Given the description of an element on the screen output the (x, y) to click on. 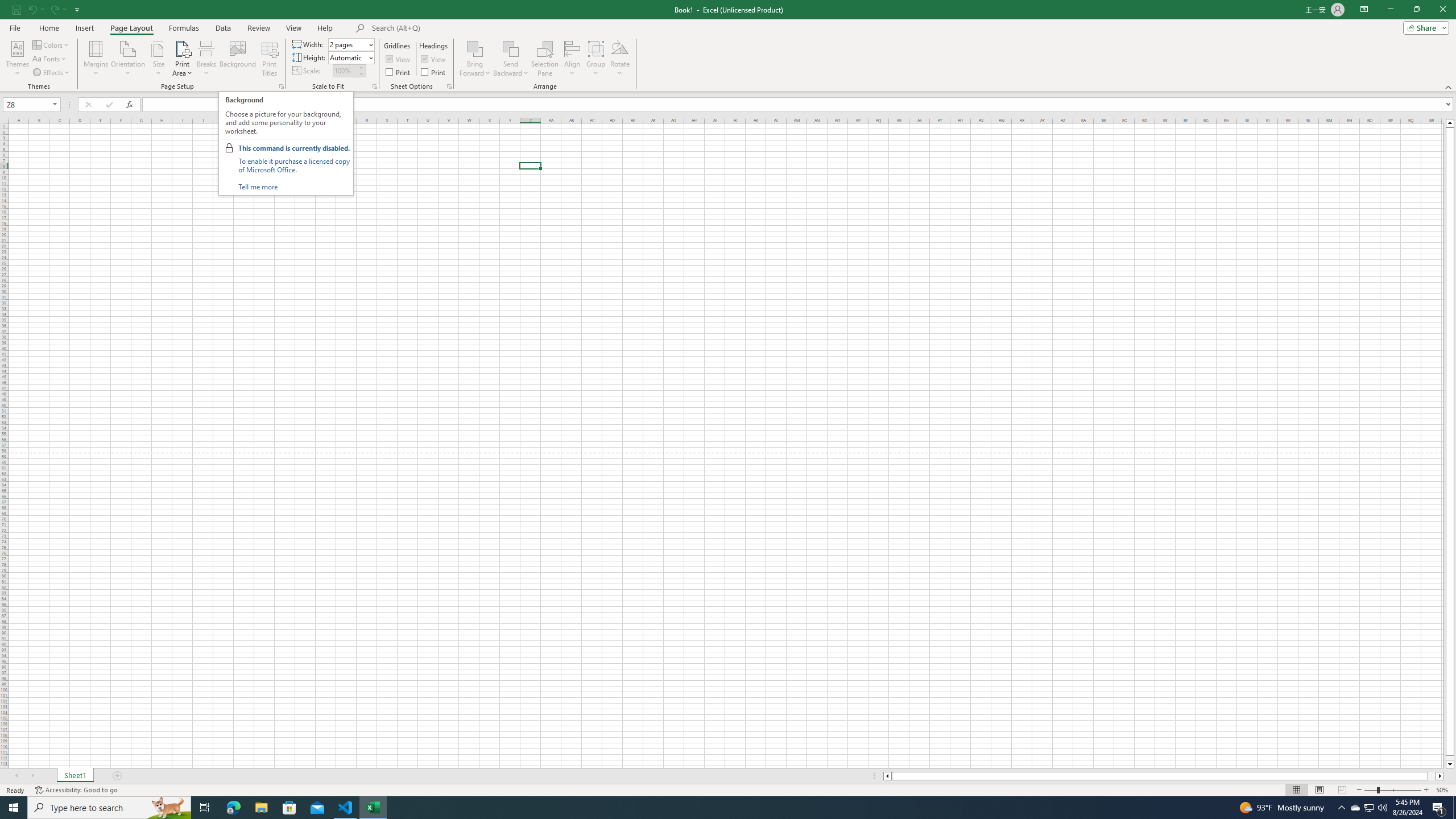
Bring Forward (475, 48)
Width (347, 44)
Background... (237, 58)
Size (158, 58)
Rotate (619, 58)
Fonts (49, 58)
Width (350, 44)
